Given the description of an element on the screen output the (x, y) to click on. 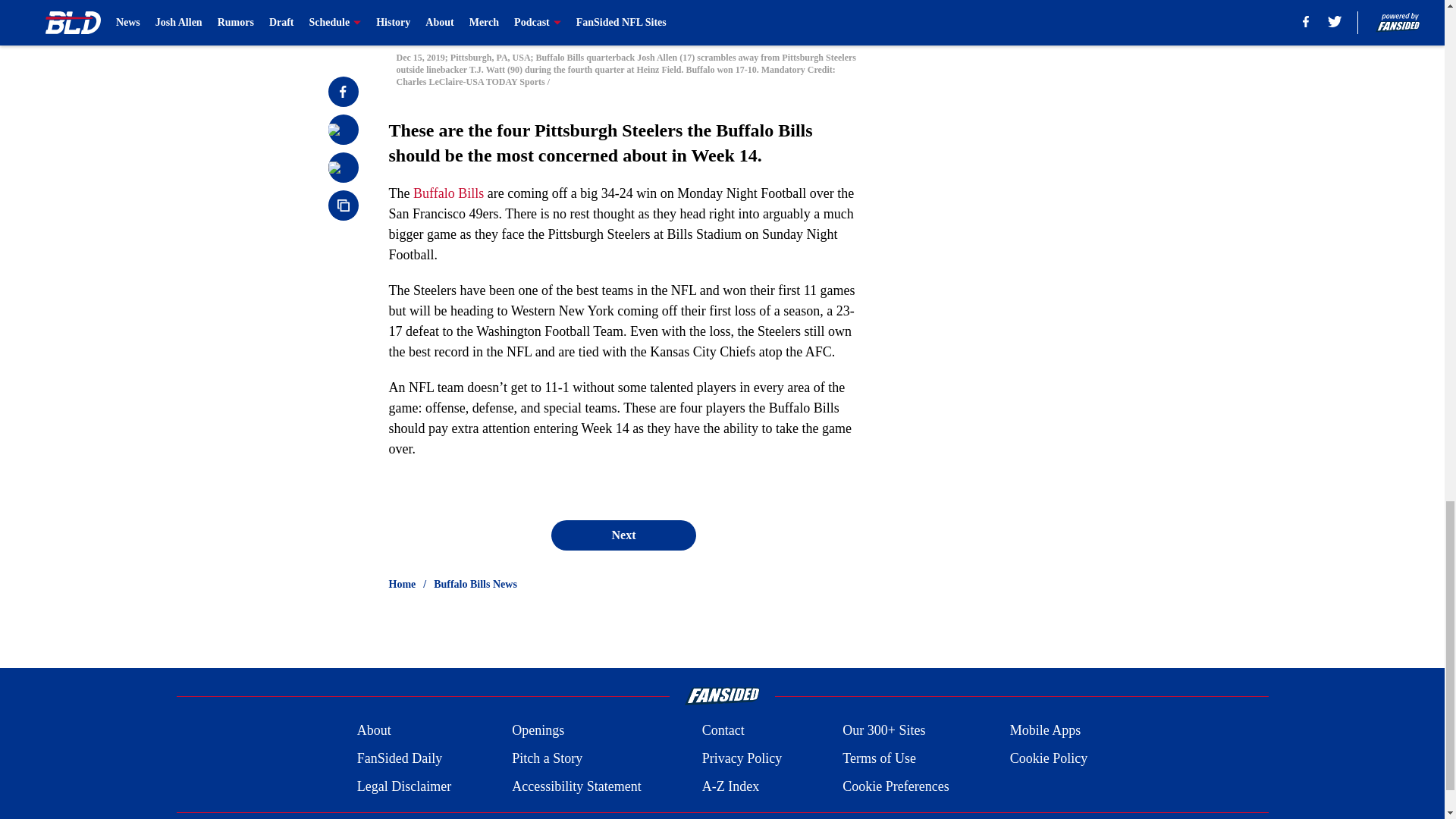
Mobile Apps (1045, 730)
Pitch a Story (547, 758)
Contact (722, 730)
About (373, 730)
Openings (538, 730)
Privacy Policy (742, 758)
Buffalo Bills News (474, 584)
Terms of Use (879, 758)
Home (401, 584)
Buffalo Bills (448, 192)
